Given the description of an element on the screen output the (x, y) to click on. 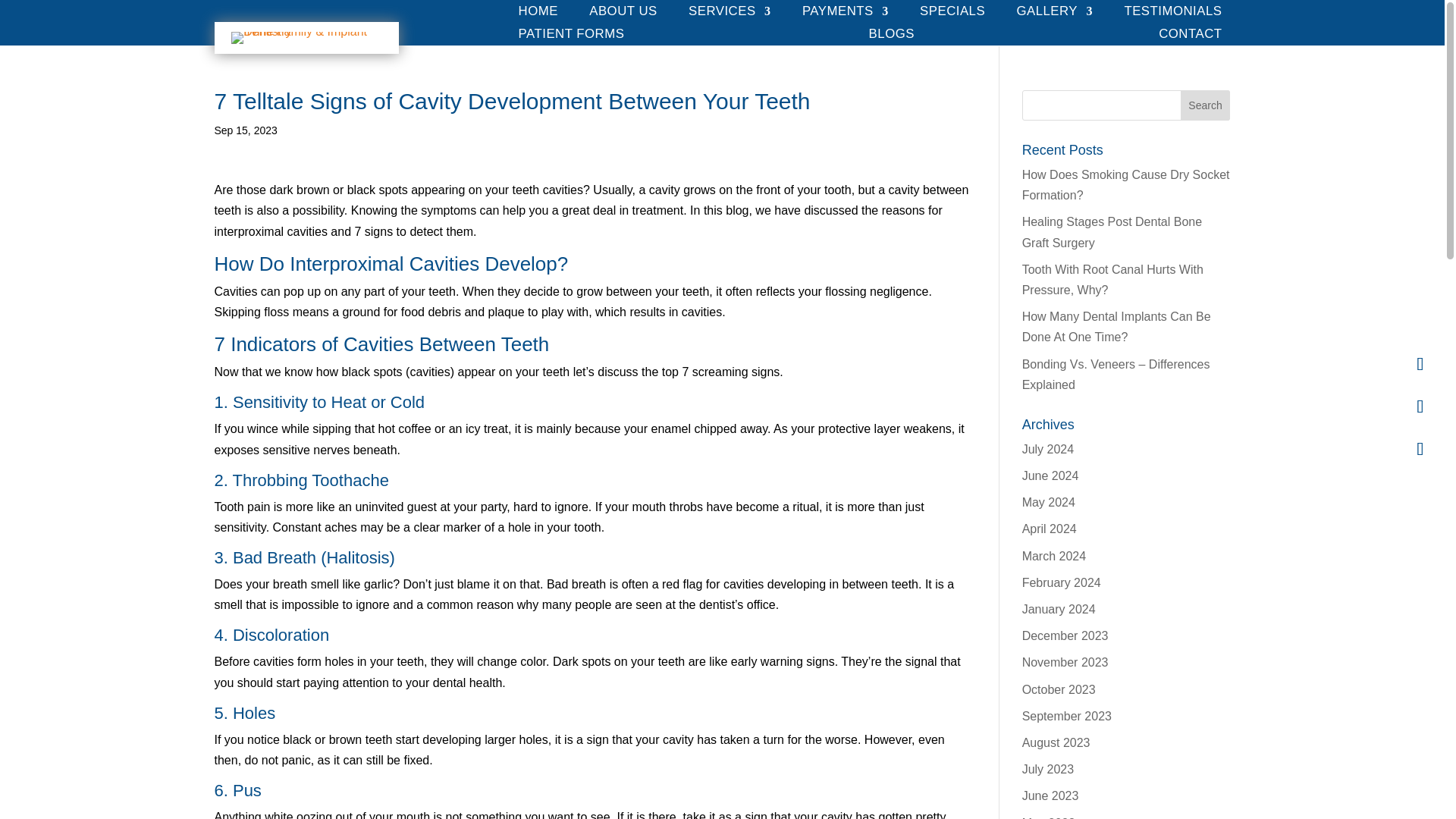
Follow on Facebook (1420, 363)
Follow on X (1420, 406)
PAYMENTS (845, 13)
HOME (537, 13)
Search (1205, 105)
BLOGS (891, 36)
How Does Smoking Cause Dry Socket Formation? (1126, 184)
TESTIMONIALS (1172, 13)
PATIENT FORMS (571, 36)
Tooth With Root Canal Hurts With Pressure, Why? (1113, 279)
